Given the description of an element on the screen output the (x, y) to click on. 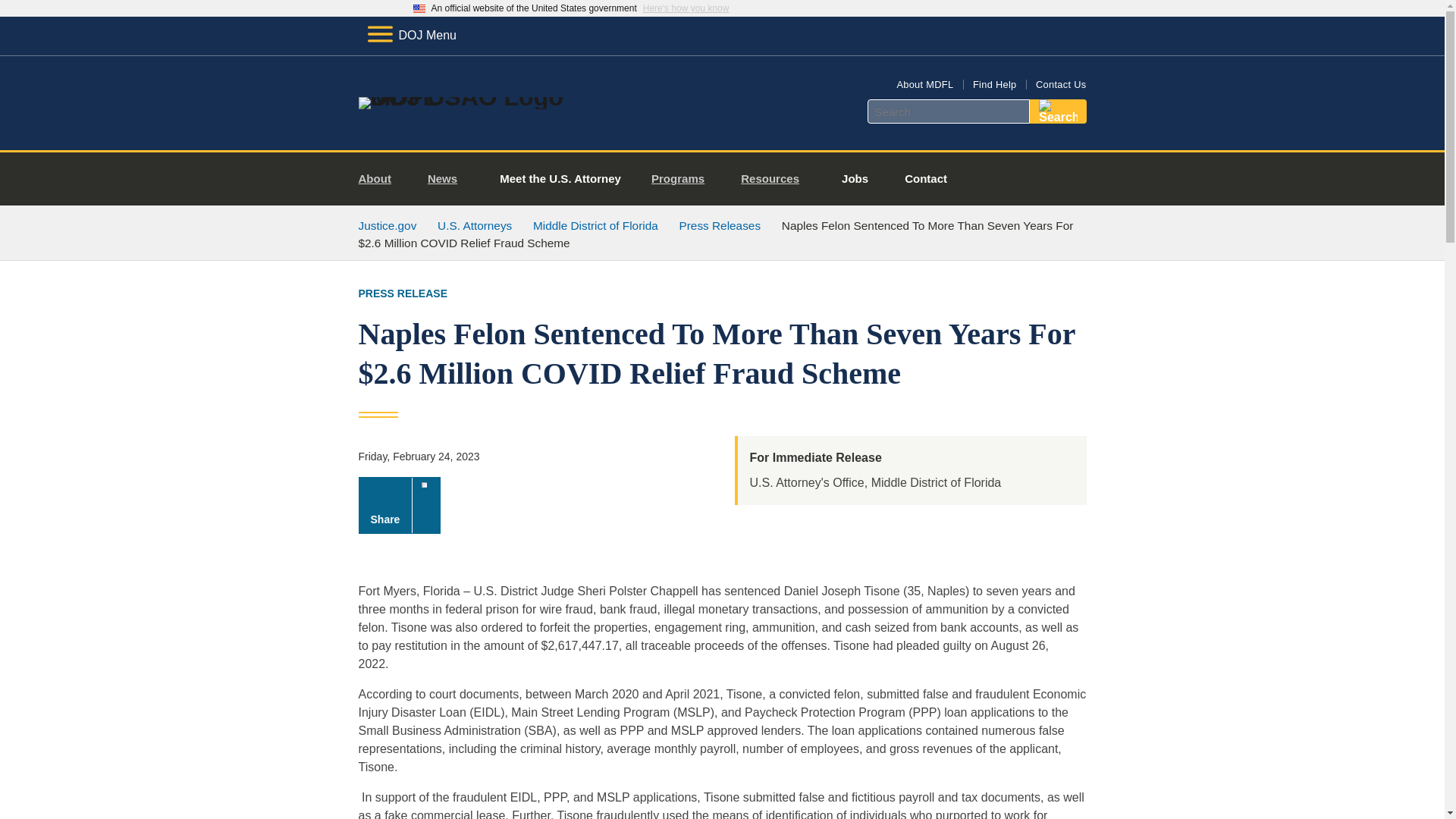
Share (398, 504)
Resources (776, 179)
Find Help (994, 84)
Here's how you know (686, 8)
News (447, 179)
Justice.gov (387, 225)
Press Releases (720, 225)
DOJ Menu (411, 35)
Middle District of Florida (595, 225)
Meet the U.S. Attorney (560, 179)
Contact Us (1060, 84)
U.S. Attorneys (475, 225)
Jobs (855, 179)
Home (481, 96)
About MDFL (924, 84)
